Given the description of an element on the screen output the (x, y) to click on. 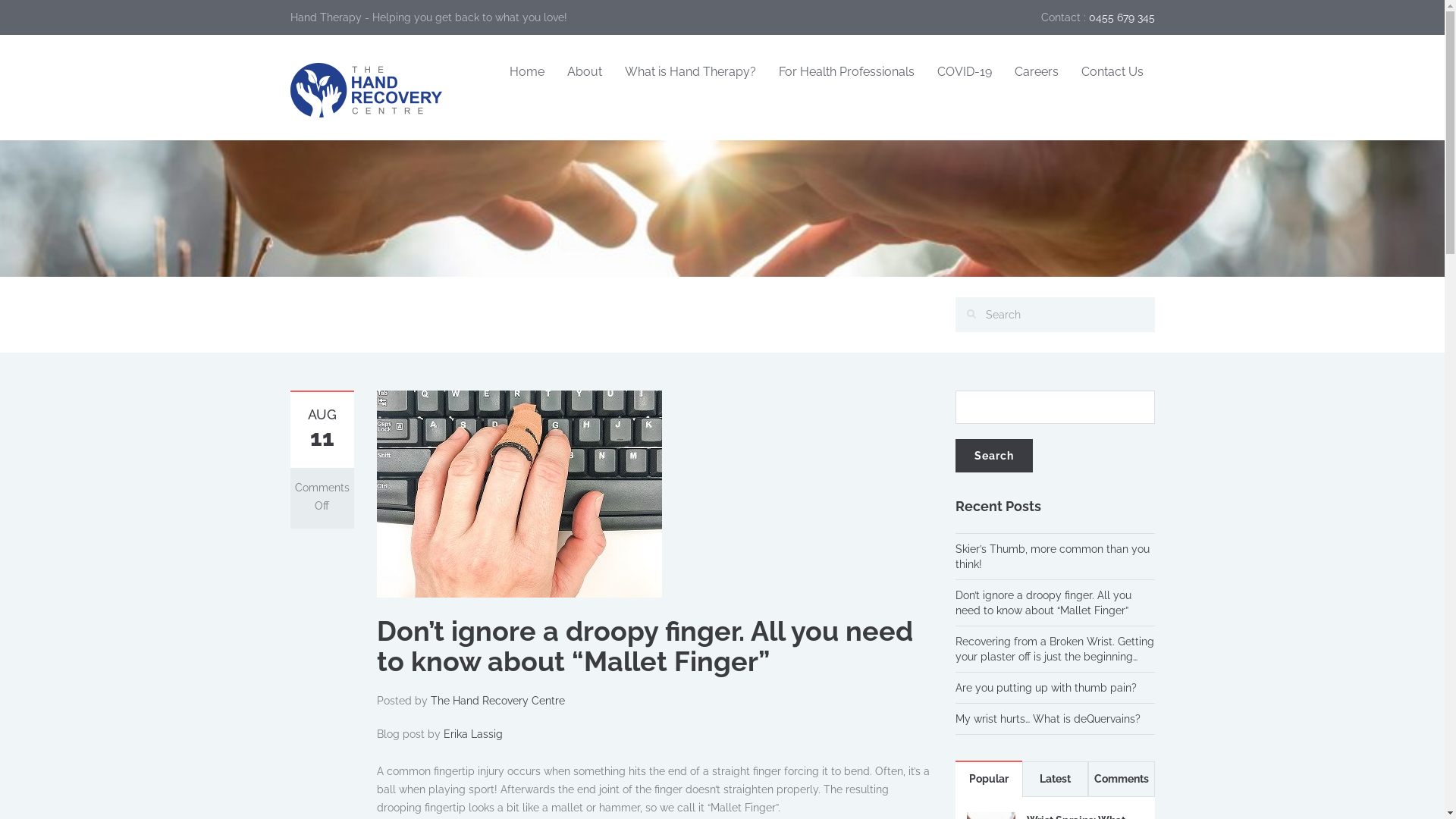
Home Element type: text (526, 72)
Careers Element type: text (1035, 72)
Contact Us Element type: text (1111, 72)
About Element type: text (583, 72)
For Health Professionals Element type: text (846, 72)
Erika Lassig Element type: text (472, 734)
COVID-19 Element type: text (963, 72)
The Hand Recovery Centre Element type: text (497, 700)
Search Element type: text (993, 455)
Are you putting up with thumb pain? Element type: text (1045, 687)
What is Hand Therapy? Element type: text (689, 72)
